Given the description of an element on the screen output the (x, y) to click on. 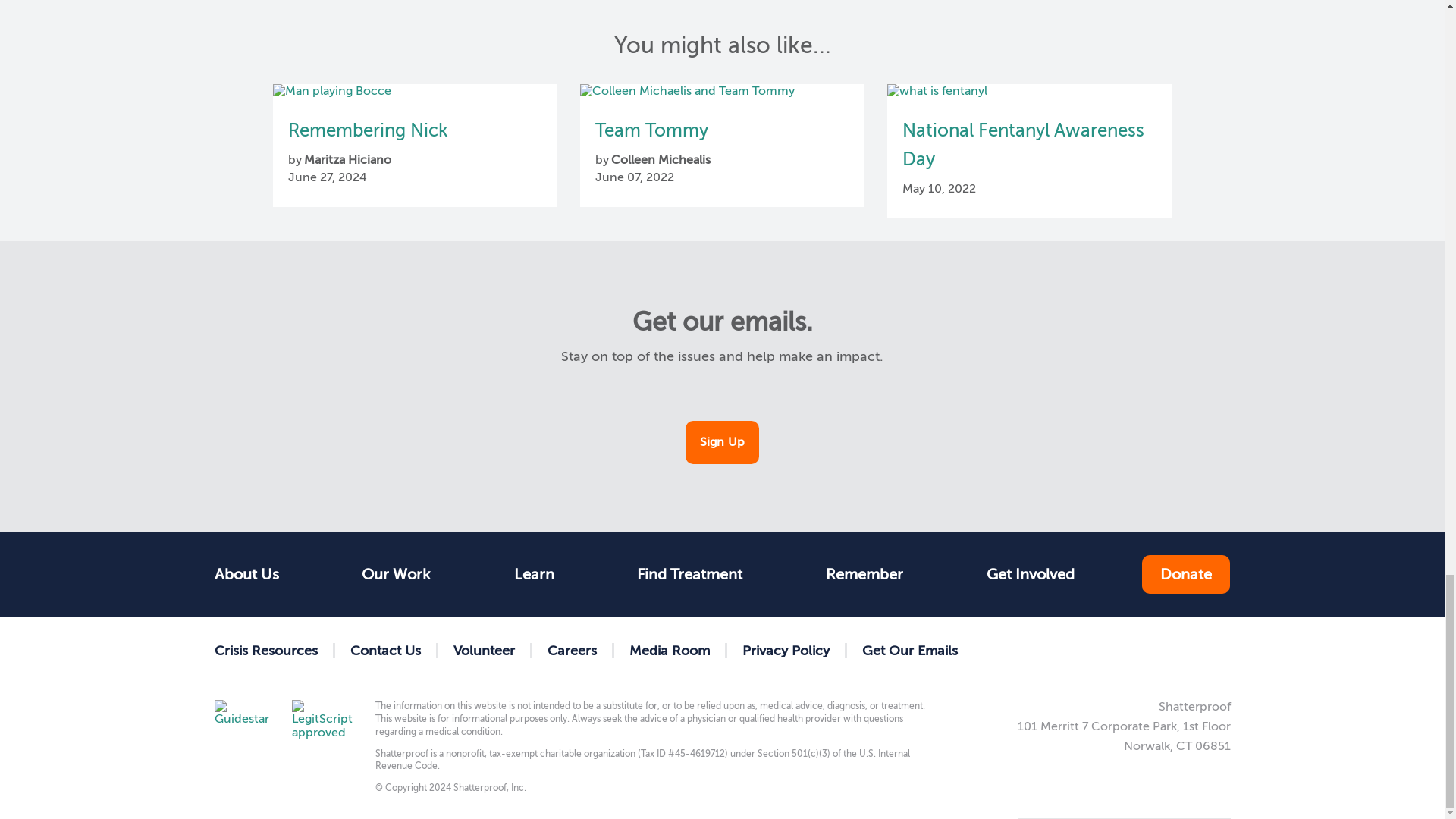
Get Involved (1030, 574)
Twitter (1122, 650)
About Us (254, 574)
Our Work (395, 574)
Instagram (1170, 650)
Donate (1185, 574)
Find Help (534, 574)
Email (1219, 650)
Facebook (1074, 650)
Press Room (669, 650)
